Given the description of an element on the screen output the (x, y) to click on. 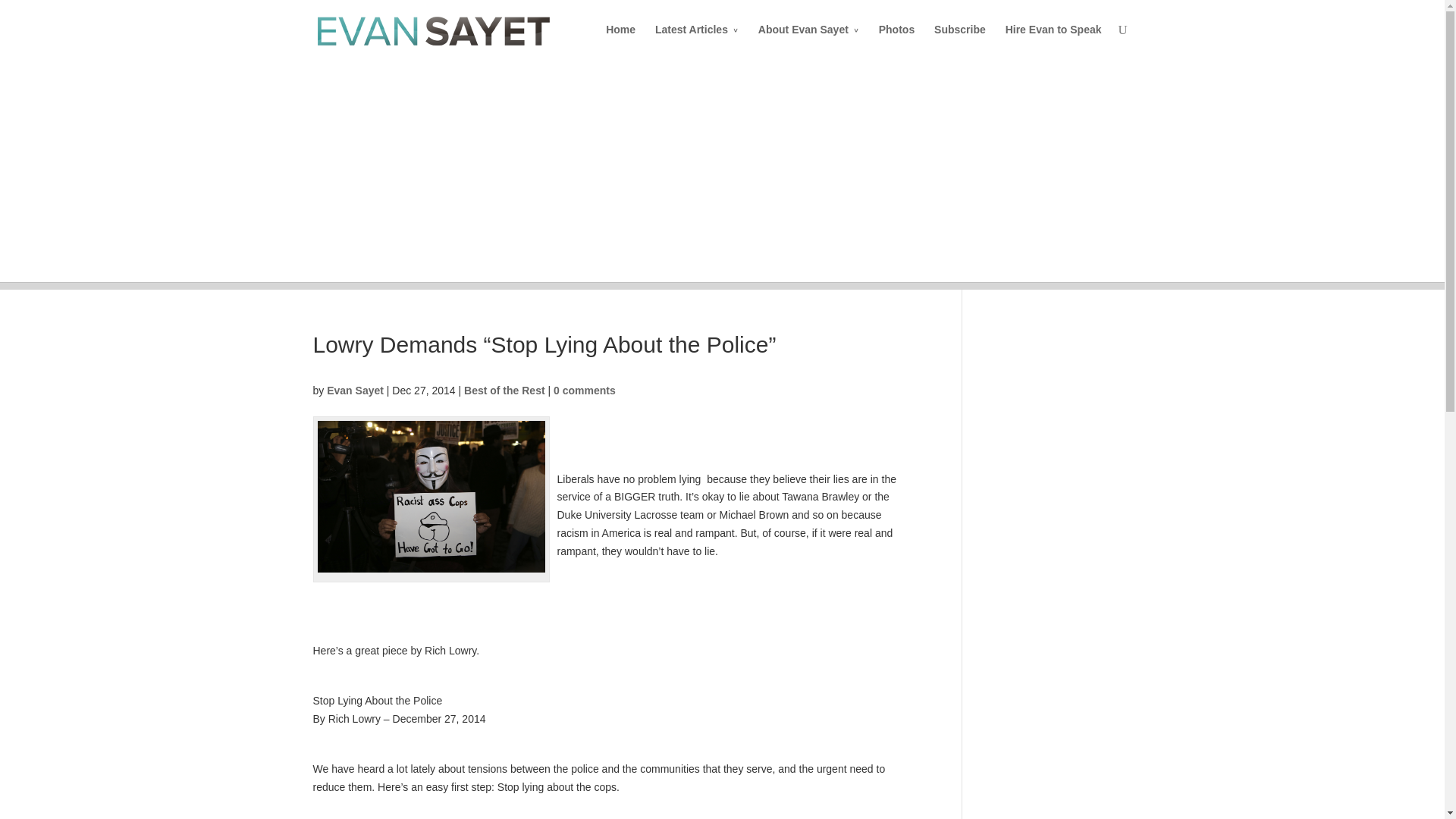
Subscribe (959, 40)
Photos (896, 40)
Best of the Rest (504, 390)
Latest Articles (696, 40)
Hire Evan to Speak (1054, 40)
0 comments (584, 390)
About Evan Sayet (808, 40)
Evan Sayet (355, 390)
Posts by Evan Sayet (355, 390)
